Given the description of an element on the screen output the (x, y) to click on. 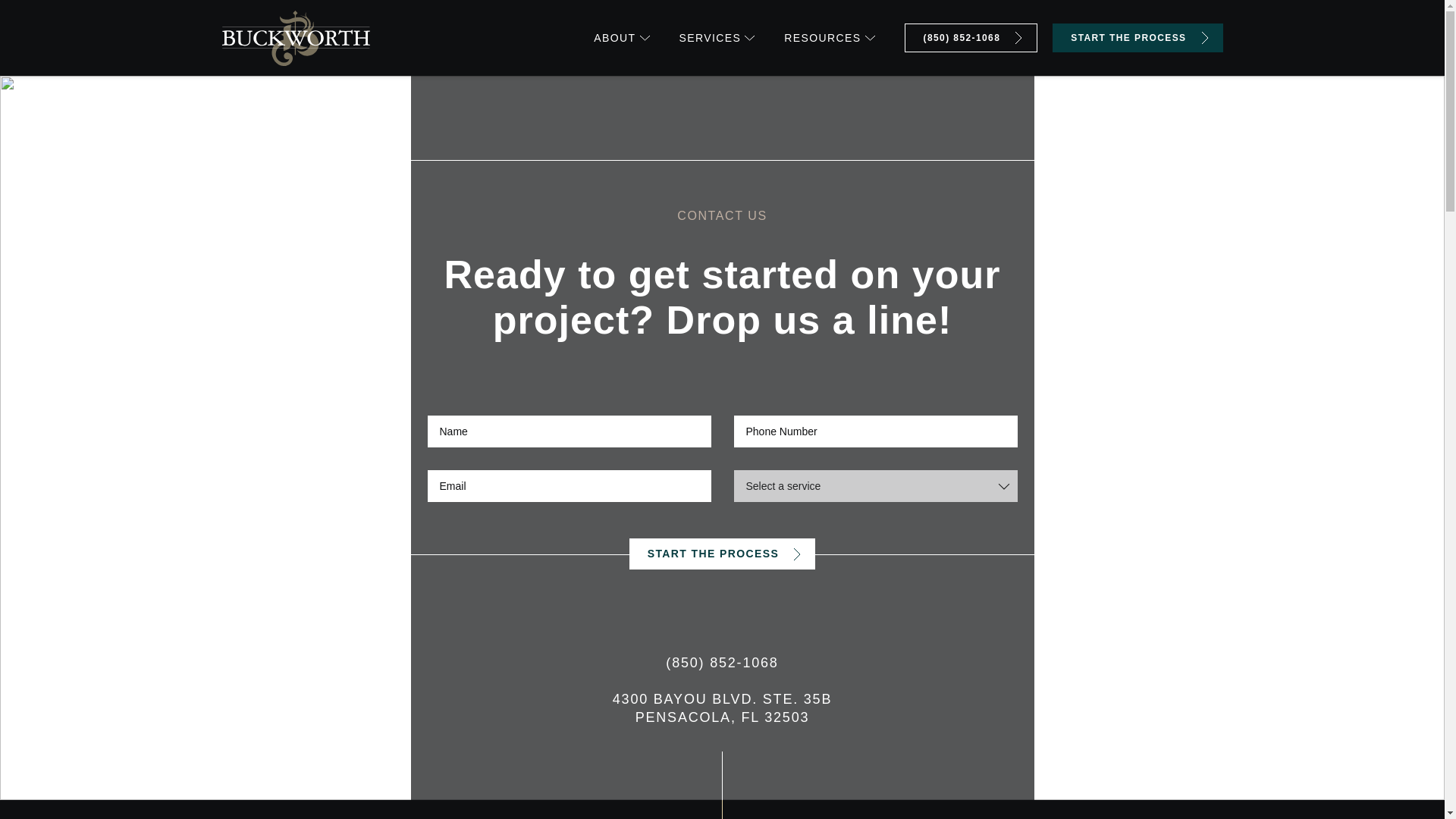
SERVICES (717, 37)
START THE PROCESS (1137, 38)
RESOURCES (829, 37)
ABOUT (621, 37)
